Given the description of an element on the screen output the (x, y) to click on. 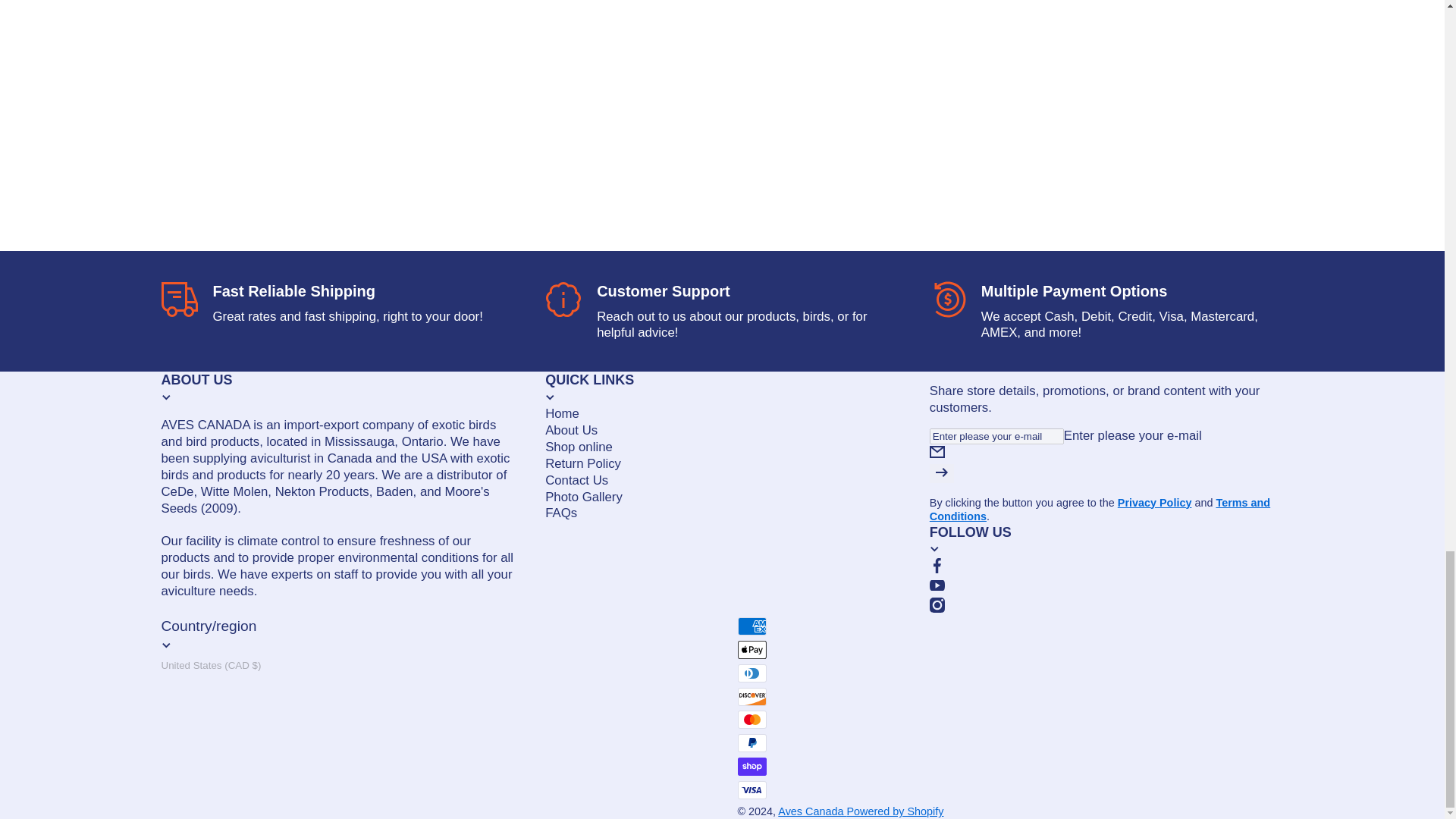
Discover (750, 696)
Shop Pay (750, 766)
American Express (750, 626)
Mastercard (750, 719)
Apple Pay (750, 649)
Diners Club (750, 673)
PayPal (750, 742)
Visa (750, 790)
